Given the description of an element on the screen output the (x, y) to click on. 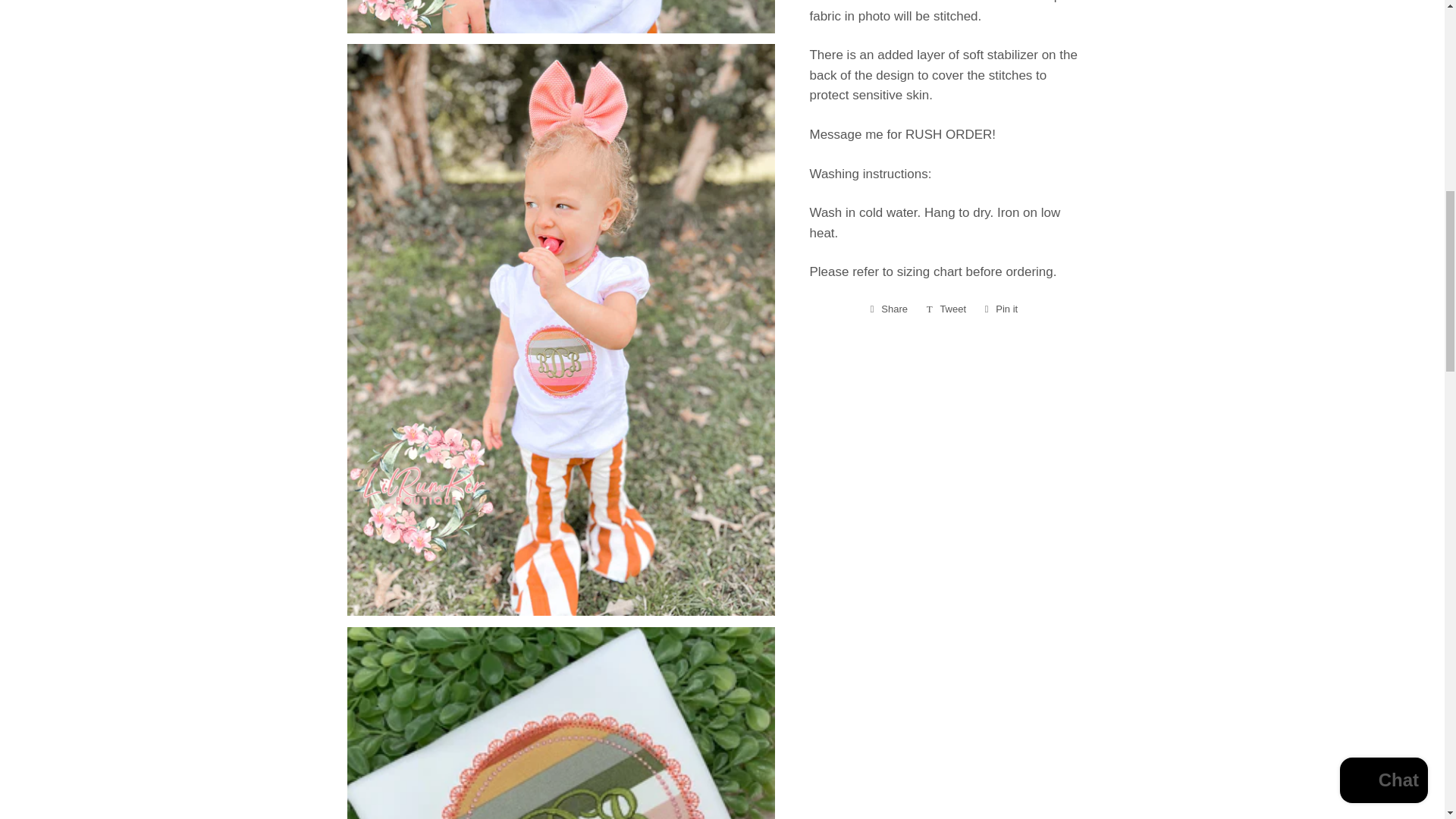
Pin on Pinterest (1000, 309)
Tweet on Twitter (946, 309)
Share on Facebook (889, 309)
